Given the description of an element on the screen output the (x, y) to click on. 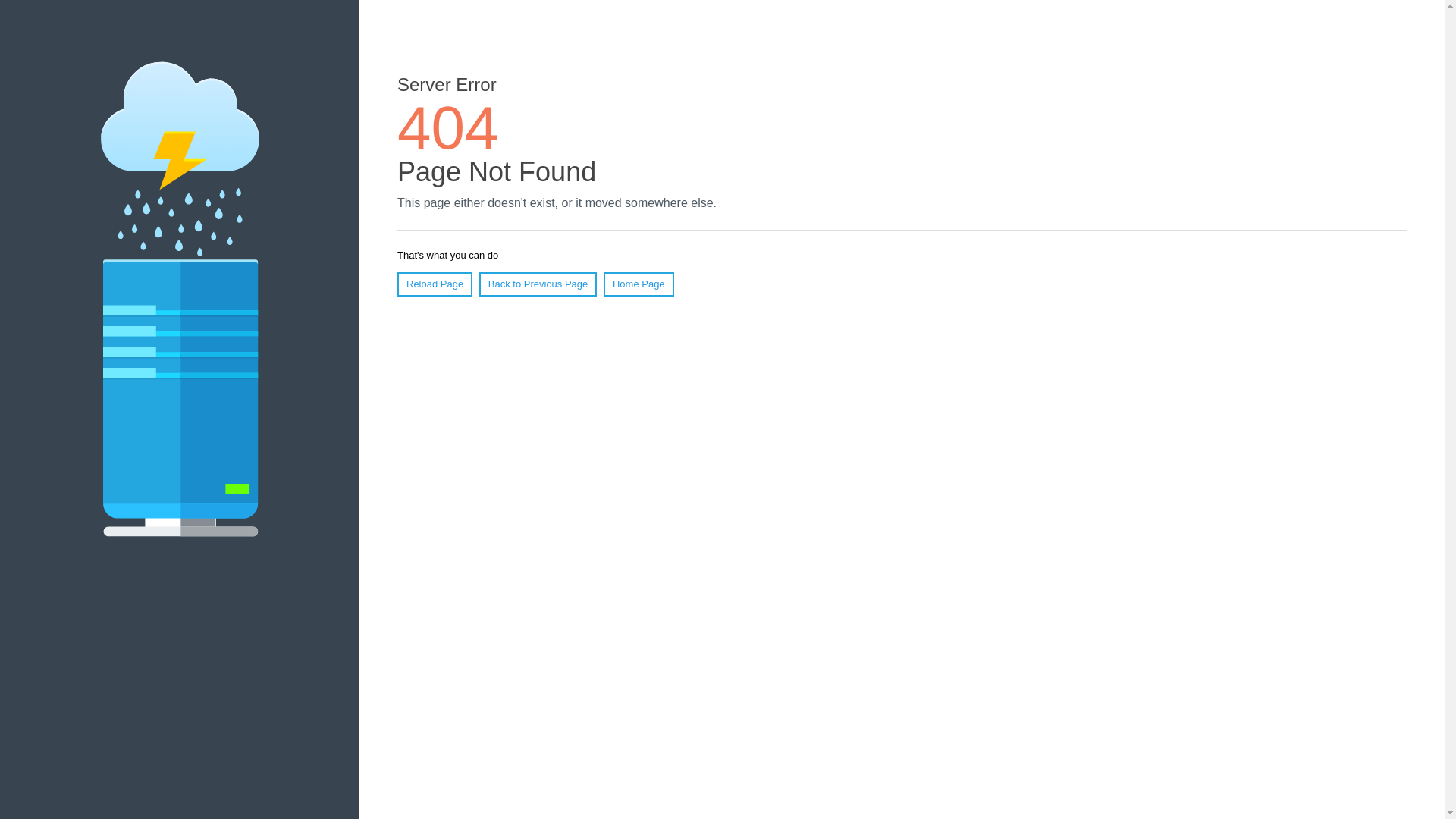
Home Page Element type: text (638, 284)
Back to Previous Page Element type: text (538, 284)
Reload Page Element type: text (434, 284)
